Given the description of an element on the screen output the (x, y) to click on. 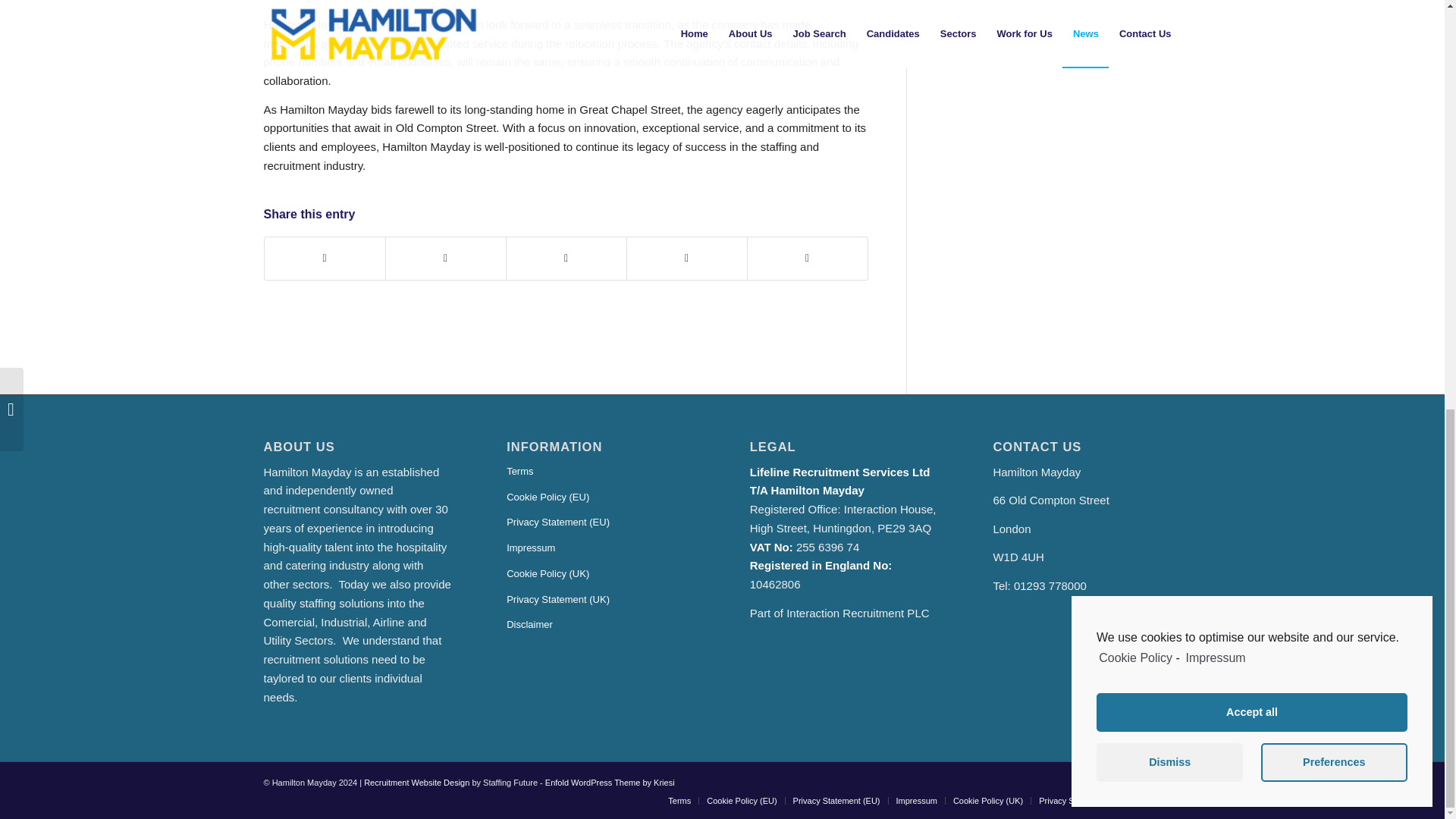
Terms (600, 472)
Disclaimer (1160, 800)
Enfold WordPress Theme by Kriesi (609, 782)
Impressum (600, 548)
Impressum (916, 800)
Terms (679, 800)
Disclaimer (600, 625)
Recruitment Website Design (416, 782)
